Given the description of an element on the screen output the (x, y) to click on. 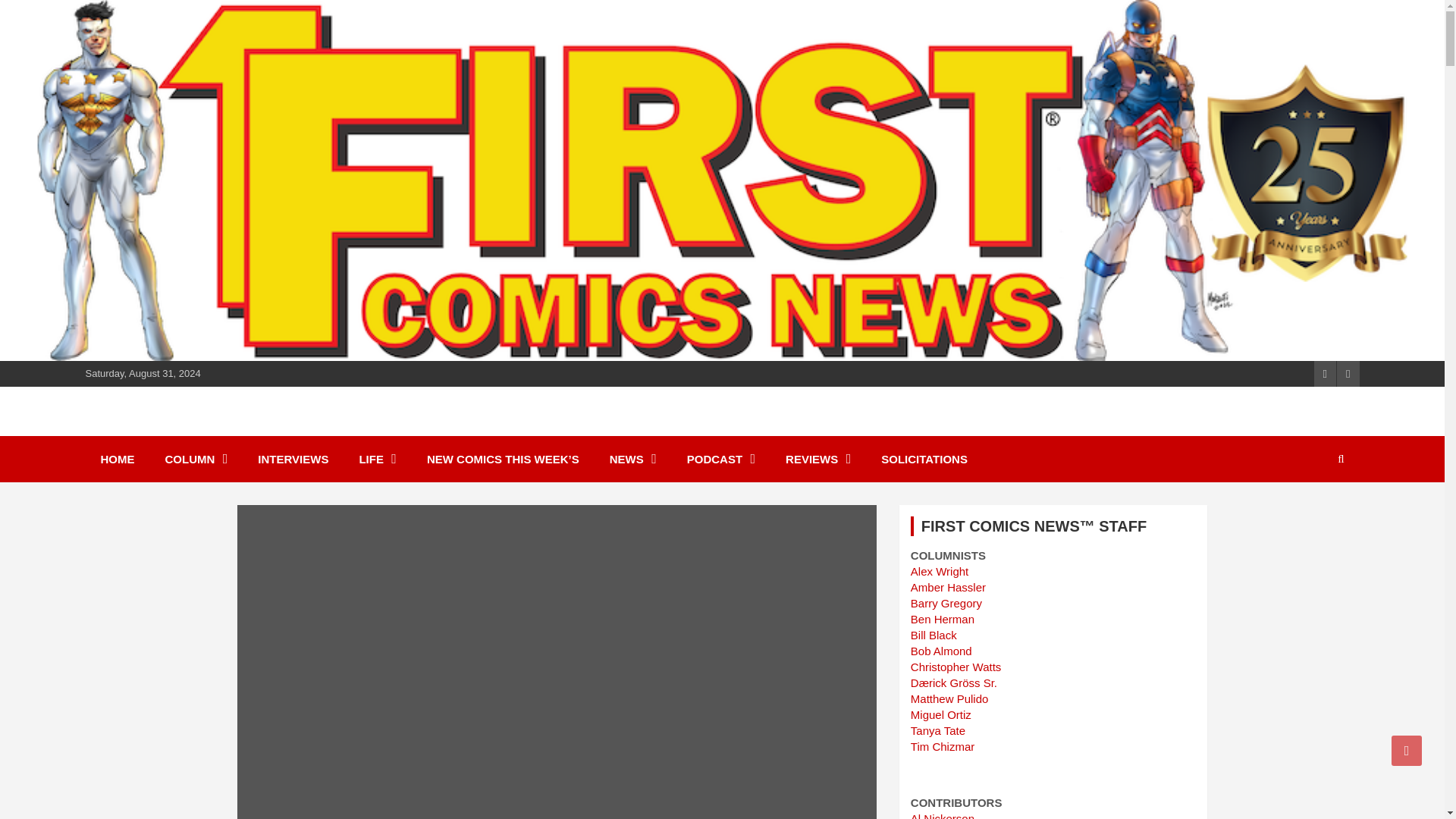
HOME (116, 458)
INTERVIEWS (293, 458)
LIFE (377, 458)
COLUMN (196, 458)
NEWS (632, 458)
First Comics News (220, 428)
REVIEWS (818, 458)
Go to Top (1406, 750)
PODCAST (720, 458)
